Given the description of an element on the screen output the (x, y) to click on. 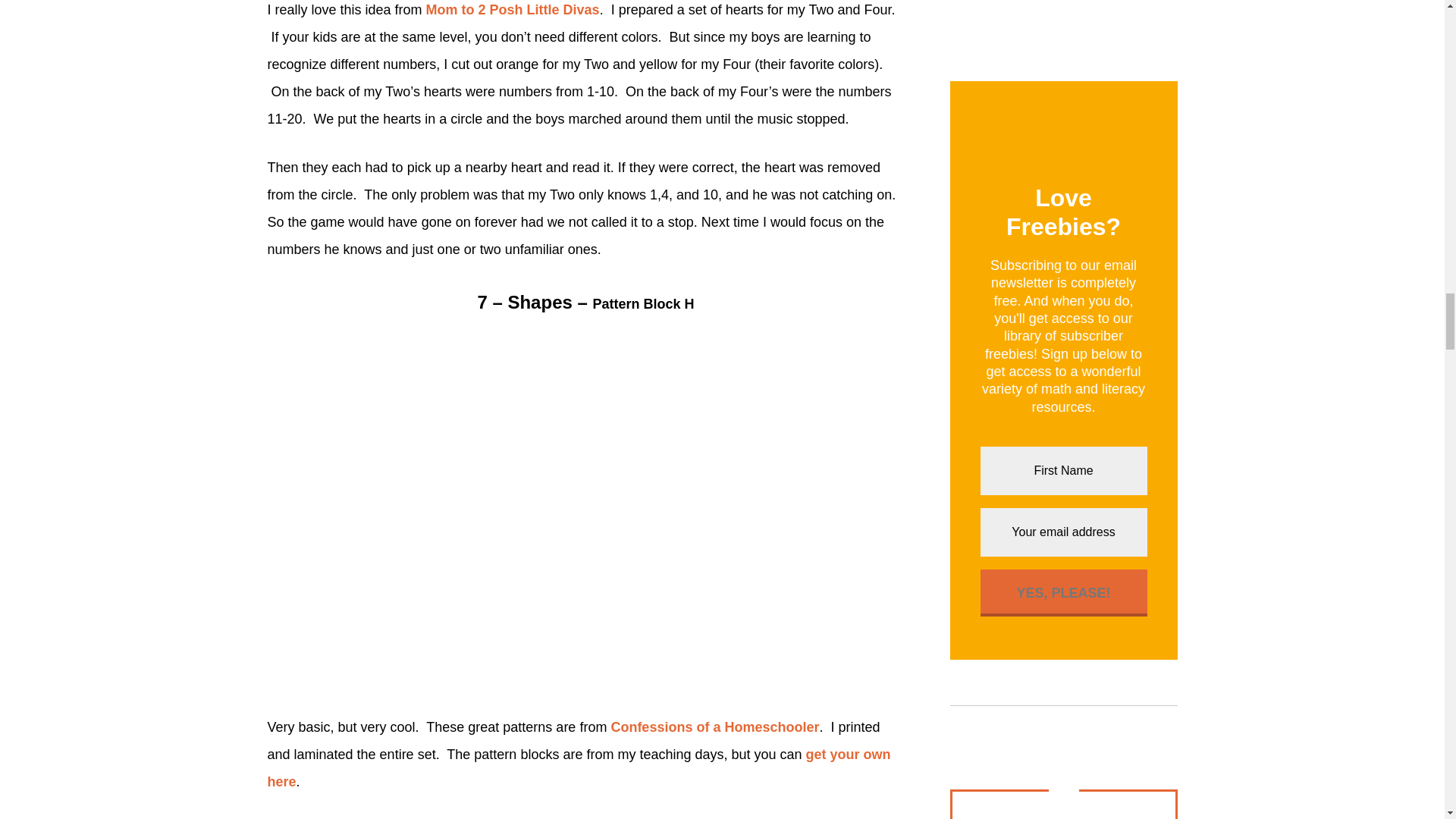
musical hearts (512, 9)
pattern block letters (714, 726)
Yes, Please! (1063, 592)
